Given the description of an element on the screen output the (x, y) to click on. 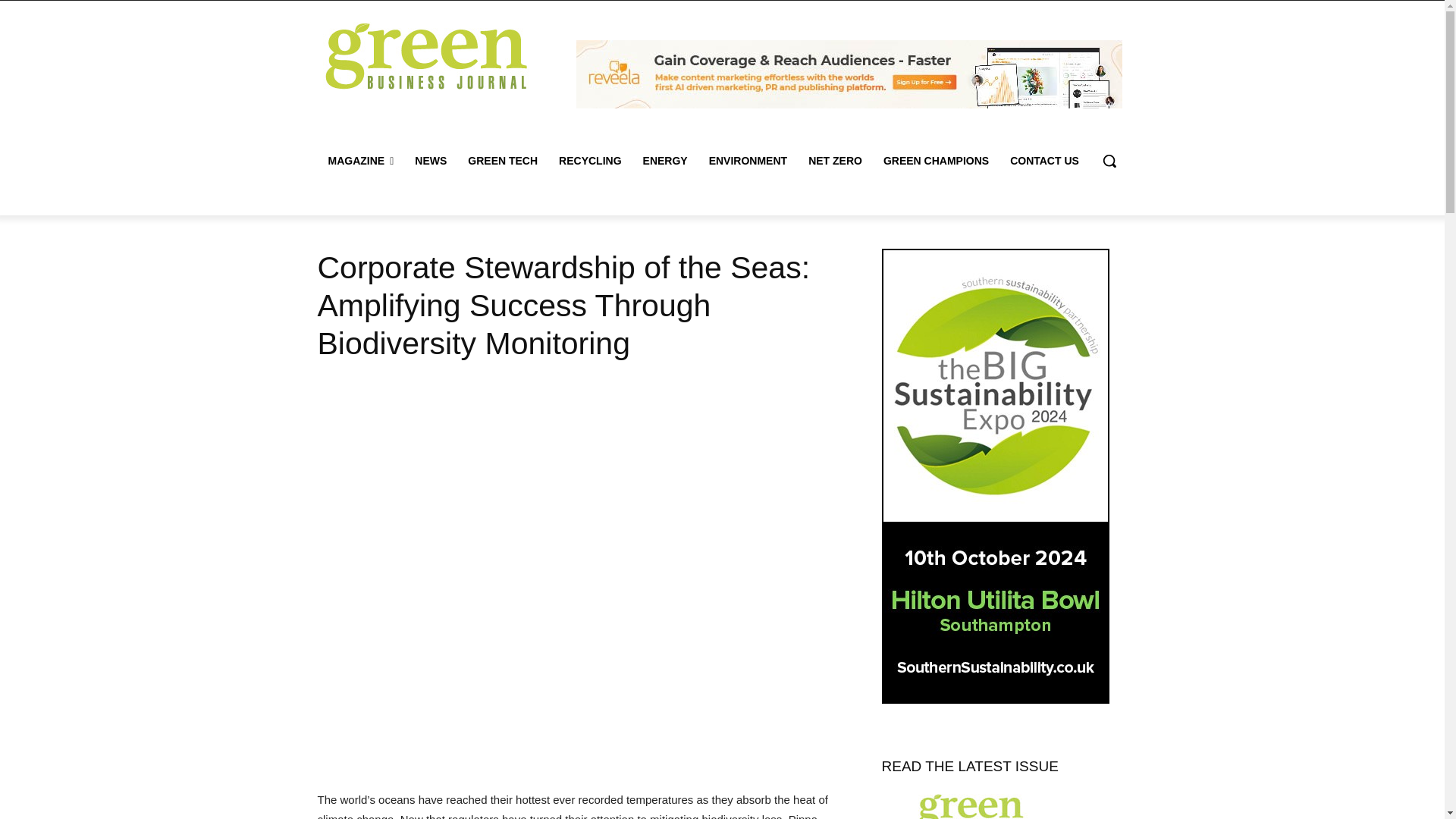
GREEN TECH (502, 160)
RECYCLING (589, 160)
GREEN CHAMPIONS (935, 160)
NET ZERO (834, 160)
ENERGY (664, 160)
NEWS (430, 160)
MAGAZINE (360, 160)
ENVIRONMENT (747, 160)
CONTACT US (1043, 160)
